Given the description of an element on the screen output the (x, y) to click on. 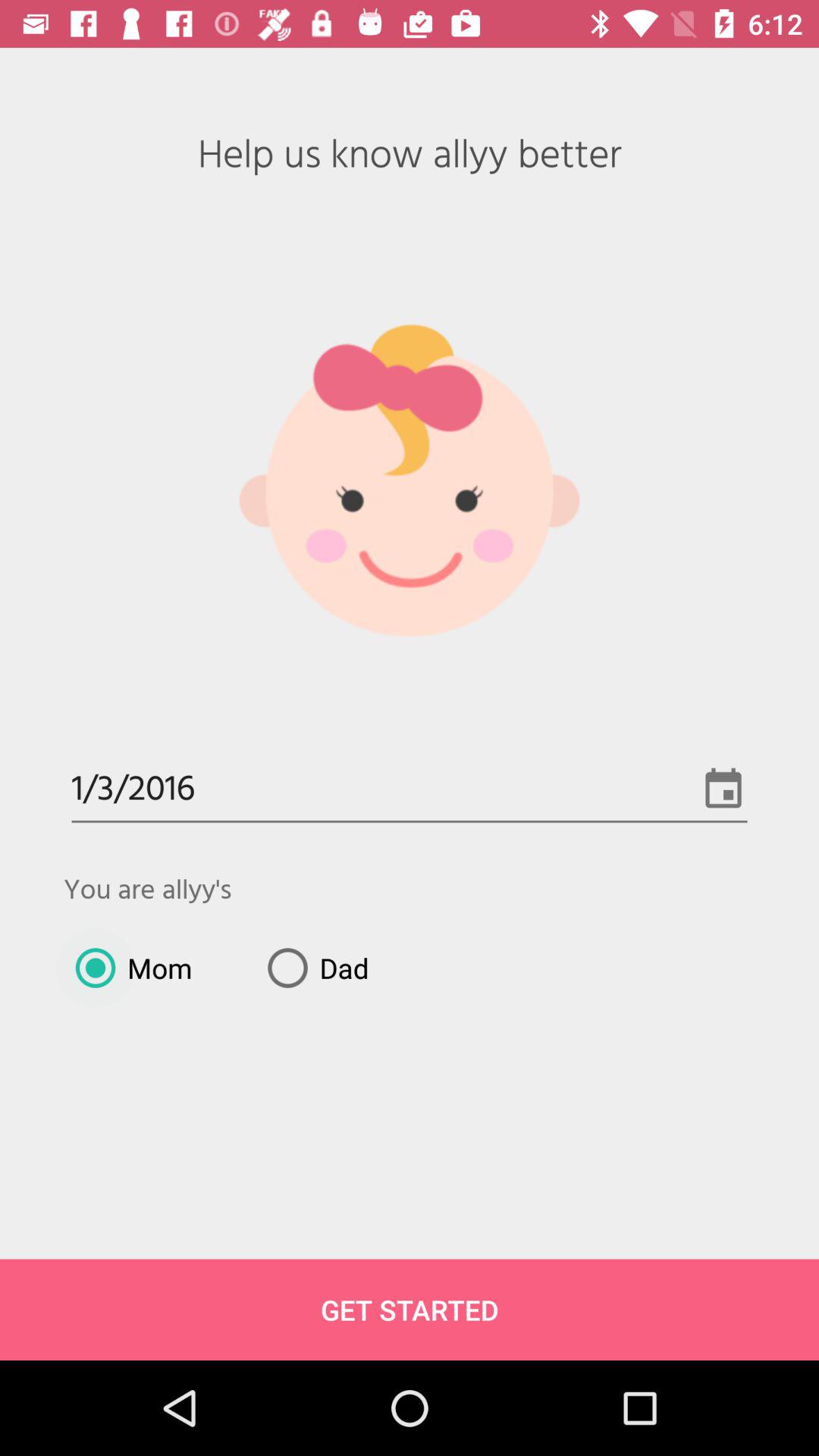
click icon below you are allyy item (127, 967)
